Given the description of an element on the screen output the (x, y) to click on. 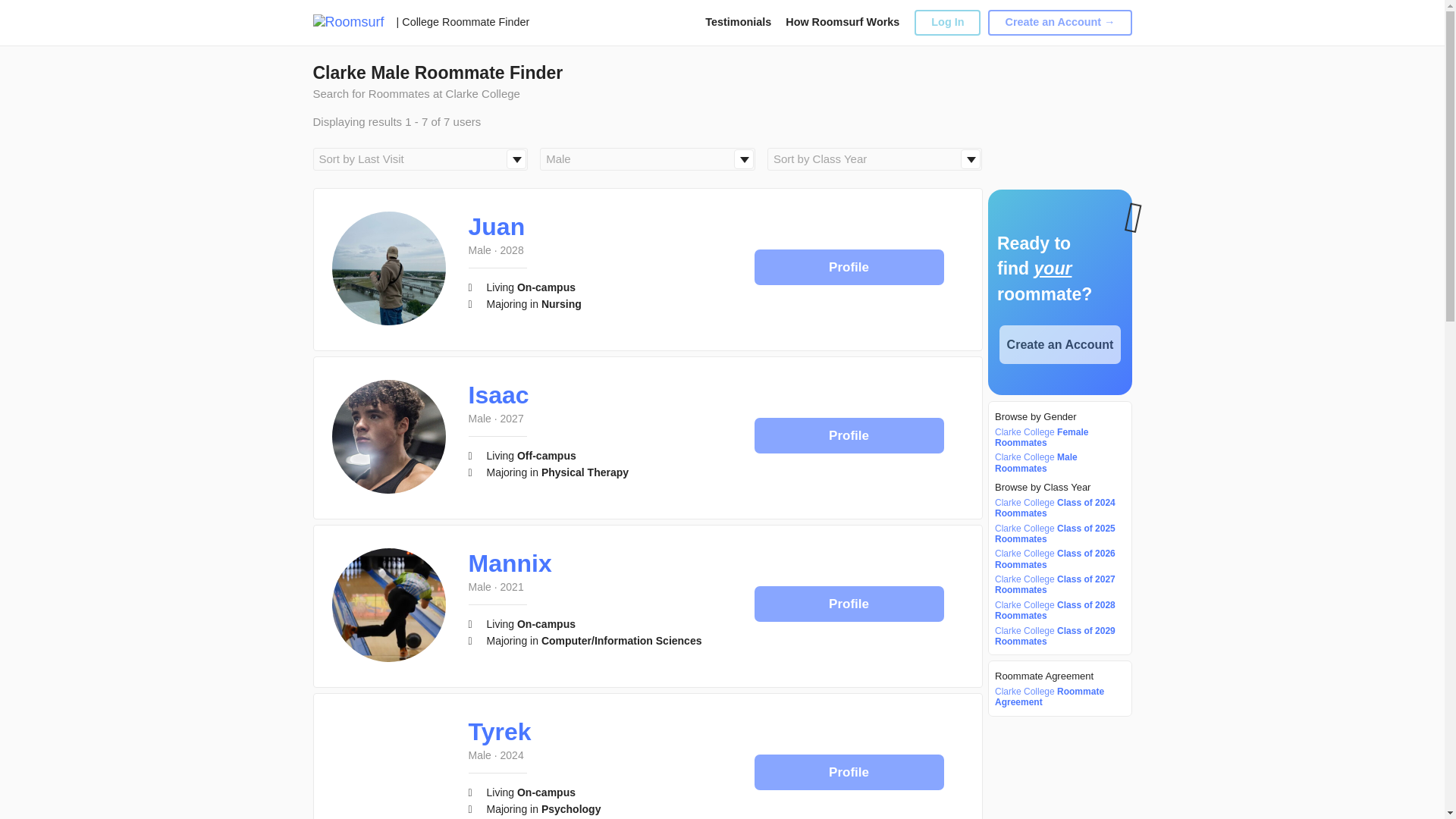
Profile (848, 267)
2028 (512, 250)
Profile (848, 435)
Isaac (498, 394)
Profile (848, 435)
How Roomsurf Works (842, 21)
Juan (496, 226)
Male (480, 250)
Male (480, 418)
Profile (848, 266)
2027 (512, 418)
Log In (946, 22)
Testimonials (737, 21)
